Given the description of an element on the screen output the (x, y) to click on. 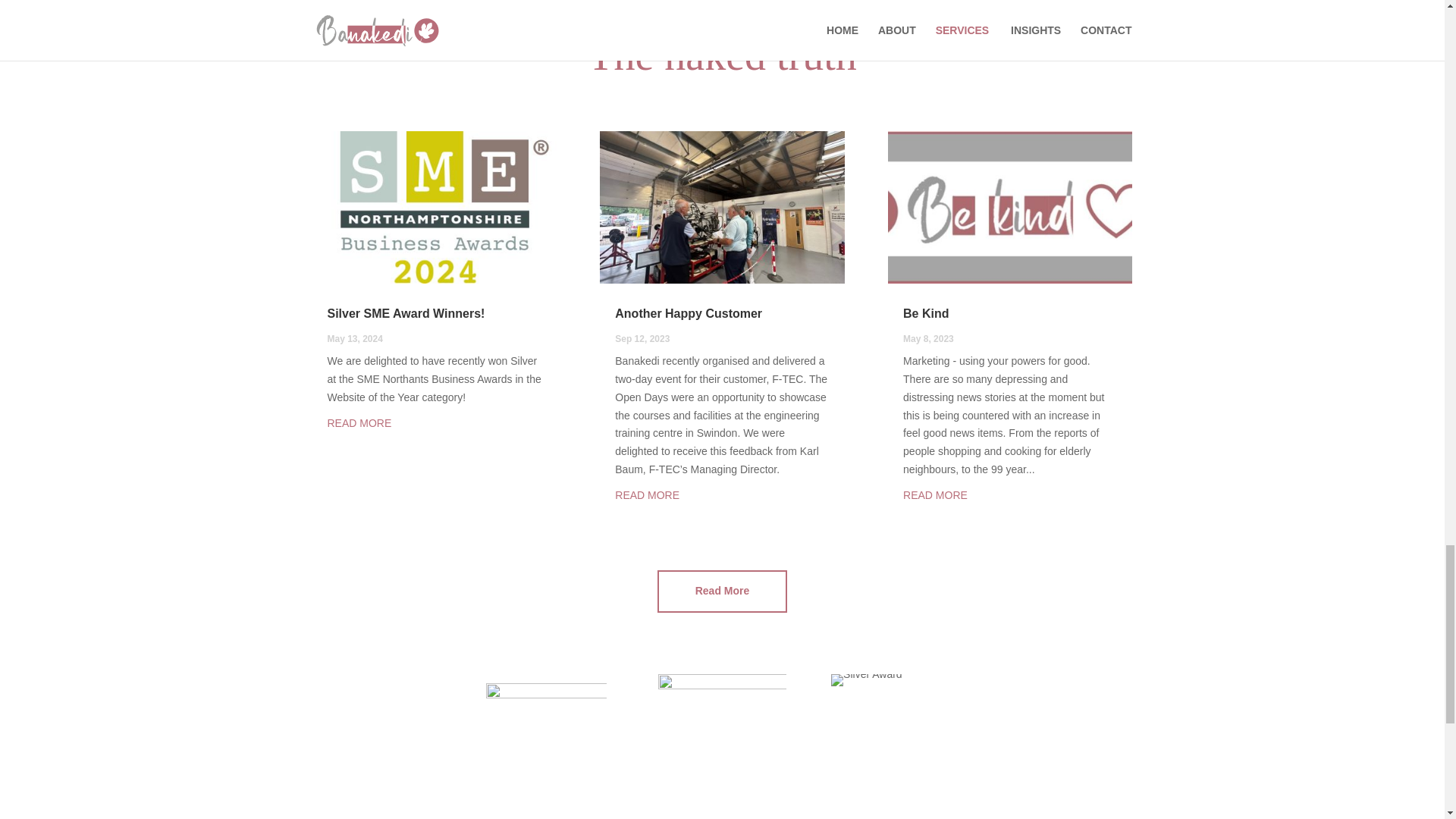
READ MORE (359, 422)
Another Happy Customer (687, 313)
READ MORE (646, 494)
READ MORE (935, 494)
Northants 2023 - Finalist (722, 737)
Silver SME Award Winners! (405, 313)
Read More (722, 591)
Northants 2024 - Silver Winner (866, 680)
Be Kind (925, 313)
SME 2022 Finalist logo (546, 737)
